Given the description of an element on the screen output the (x, y) to click on. 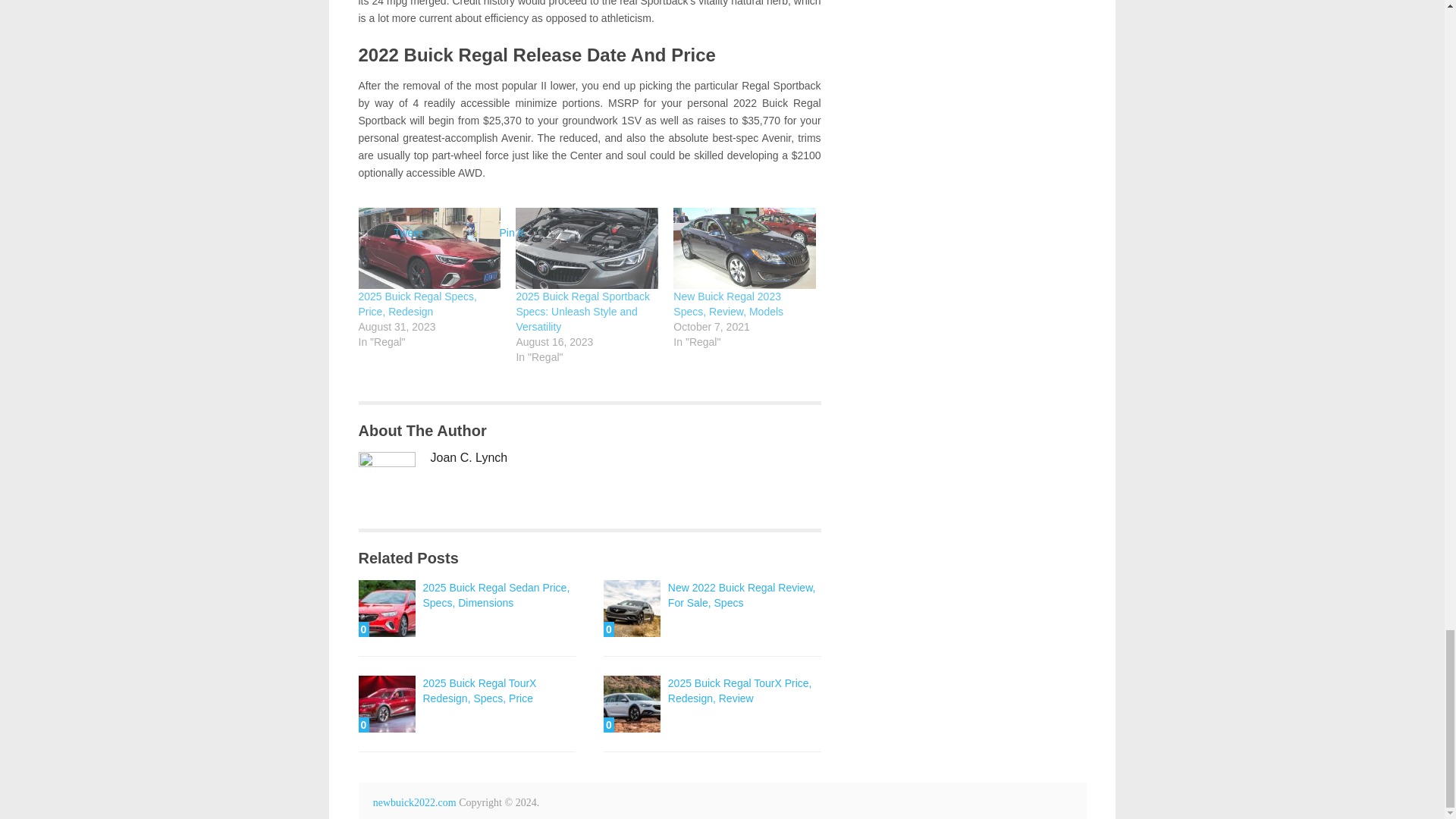
New Buick Regal 2023 Specs, Review, Models (743, 248)
2025 Buick Regal Specs, Price, Redesign (417, 303)
2025 Buick Regal Sedan Price, Specs, Dimensions (496, 595)
2025 Buick Regal Sedan Price, Specs, Dimensions (386, 608)
2025 Buick Regal Specs, Price, Redesign (429, 248)
New Buick Regal 2023 Specs, Review, Models (727, 303)
